Given the description of an element on the screen output the (x, y) to click on. 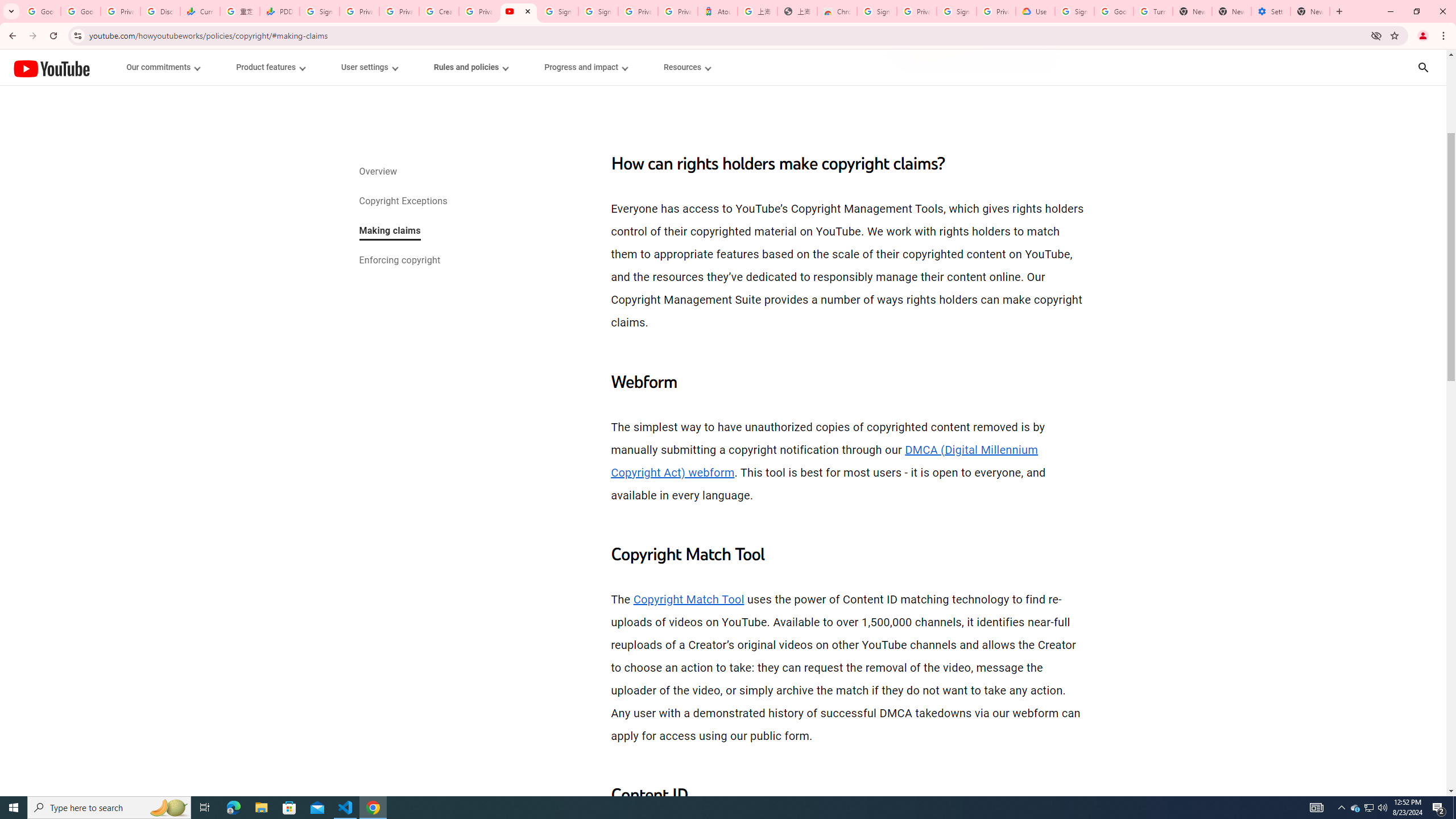
How YouTube Works (51, 66)
Our commitments menupopup (163, 67)
Progress and impact menupopup (585, 67)
Sign in - Google Accounts (956, 11)
Play (723, 469)
Search (1438, 67)
View site information (77, 35)
You (1422, 35)
Sign in - Google Accounts (319, 11)
Sign in - Google Accounts (557, 11)
Address and search bar (726, 35)
